Given the description of an element on the screen output the (x, y) to click on. 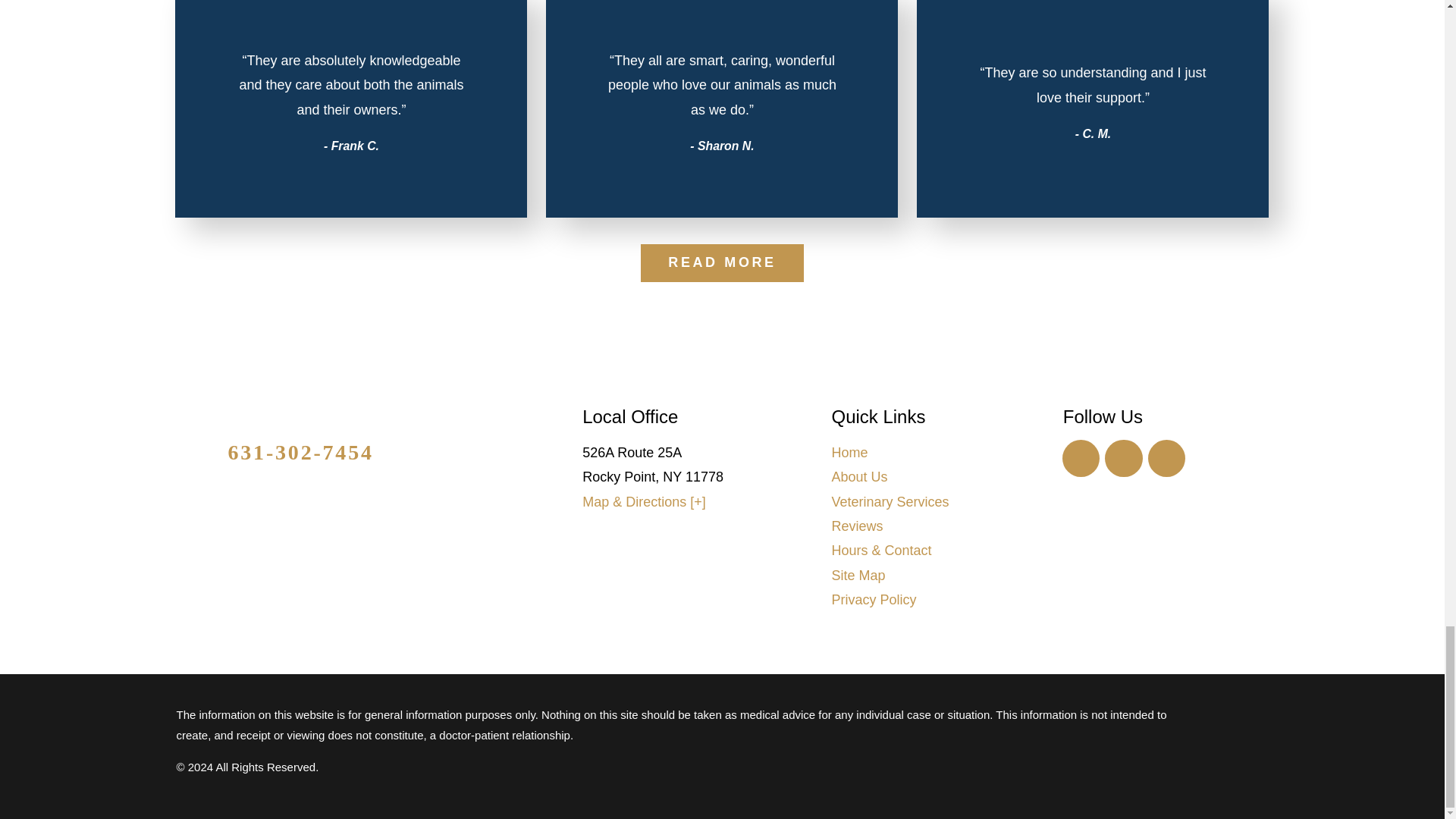
Facebook (1123, 458)
Yelp (1167, 458)
Google Business Profile (1081, 458)
